Given the description of an element on the screen output the (x, y) to click on. 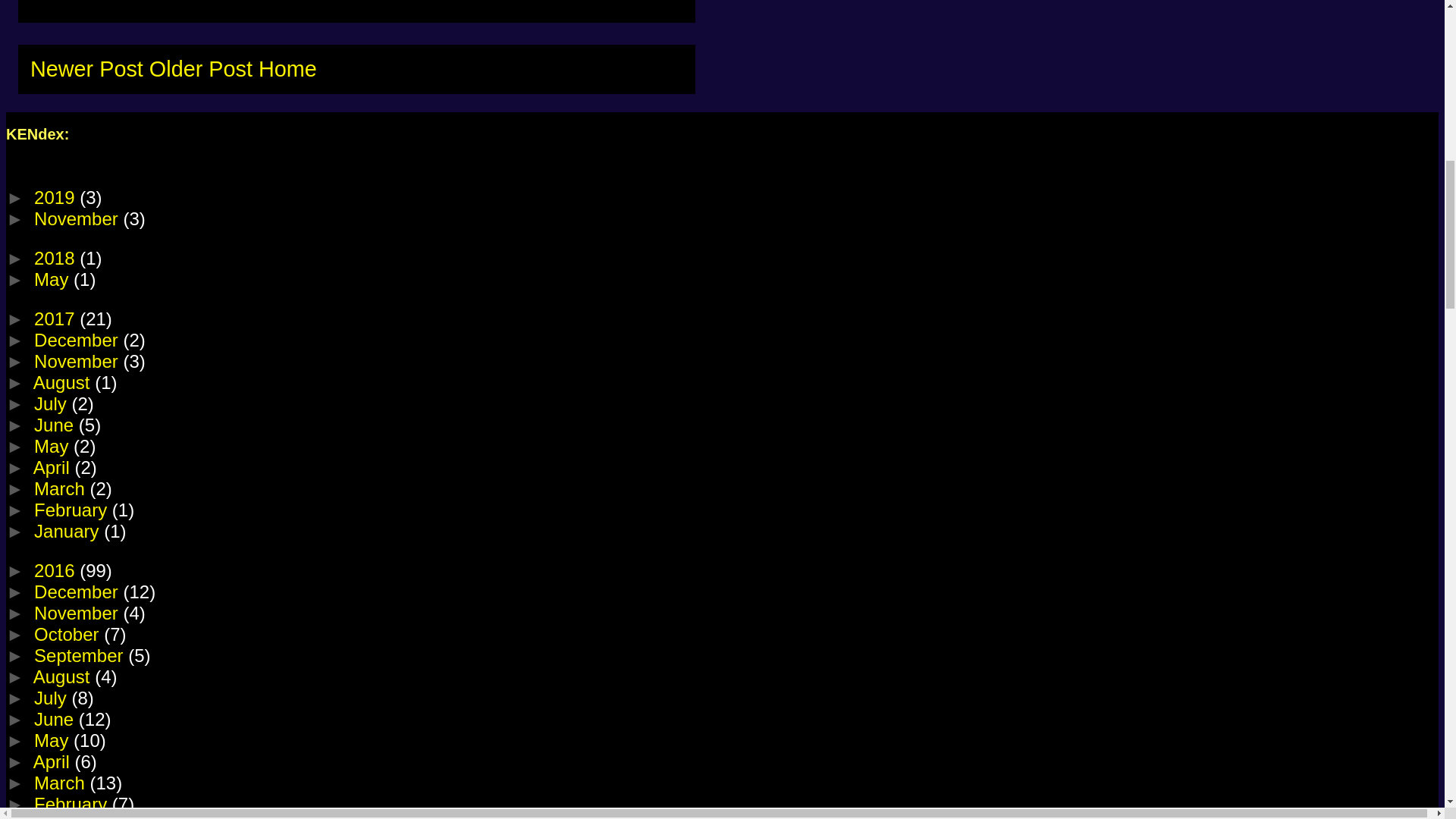
Newer Post (86, 68)
Newer Post (86, 68)
2019 (56, 197)
Older Post (200, 68)
February (72, 509)
March (60, 488)
June (55, 424)
2018 (56, 258)
December (77, 340)
May (53, 279)
April (54, 467)
July (52, 403)
May (53, 445)
November (77, 361)
November (77, 218)
